Given the description of an element on the screen output the (x, y) to click on. 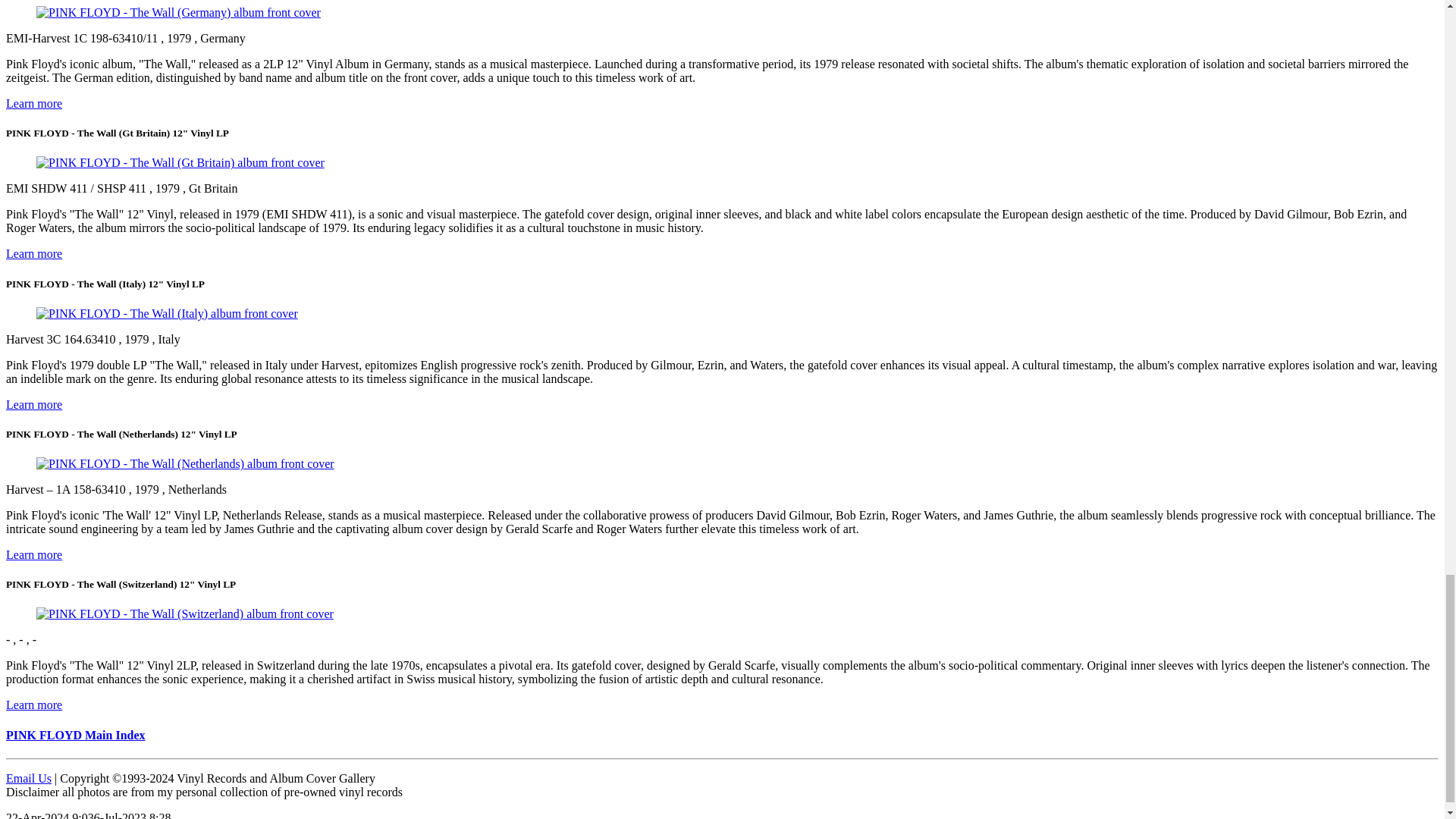
Learn more (33, 404)
Learn more (33, 103)
Learn more (33, 704)
PINK FLOYD Main Index (75, 735)
Learn more (33, 554)
Email Us (27, 778)
Learn more (33, 253)
